Given the description of an element on the screen output the (x, y) to click on. 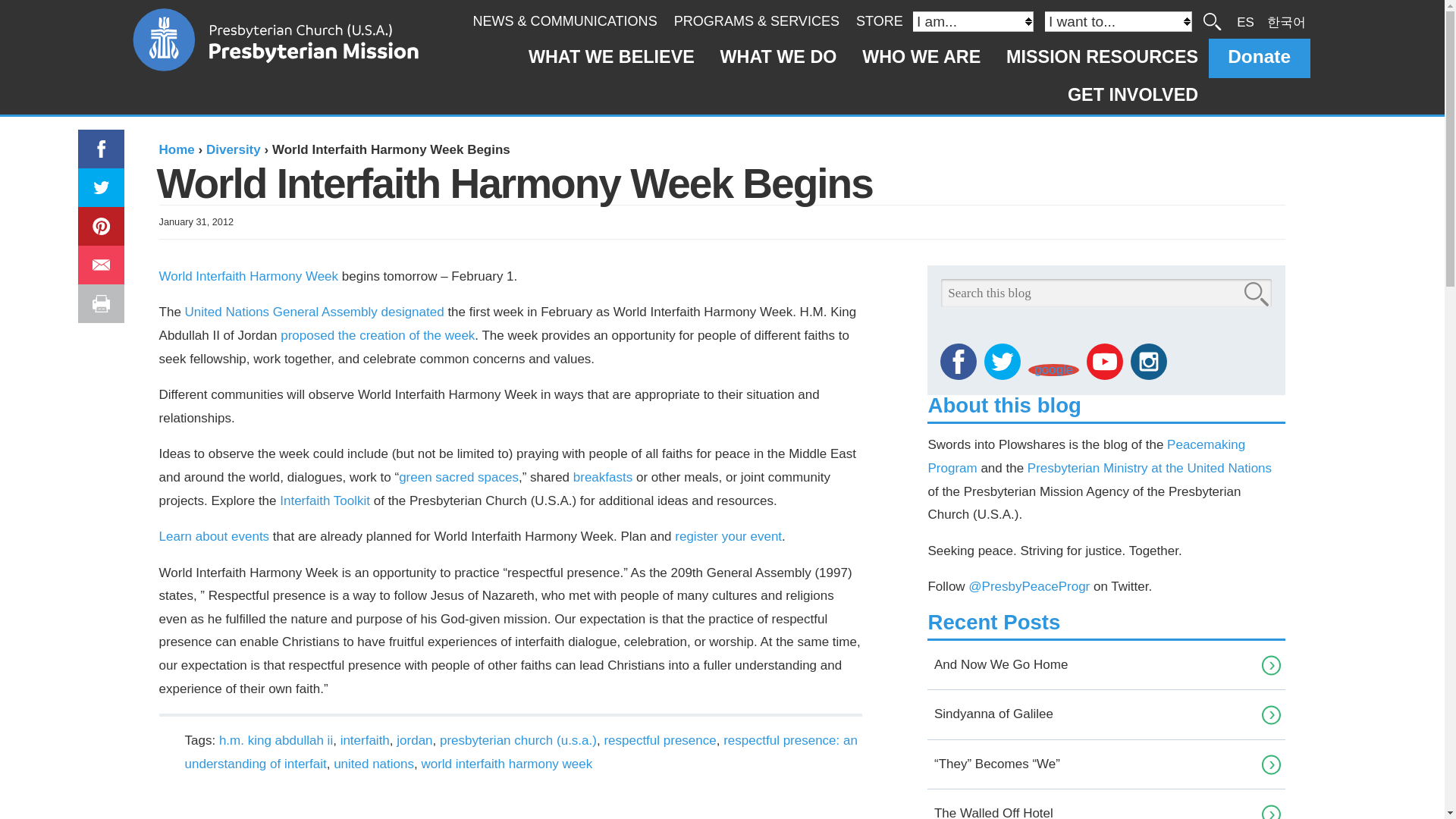
ES (1245, 22)
Share via Email (103, 264)
STORE (879, 20)
Share on Facebook (92, 140)
Share on Twitter (98, 178)
Print this page (103, 303)
Pin It (96, 217)
